Given the description of an element on the screen output the (x, y) to click on. 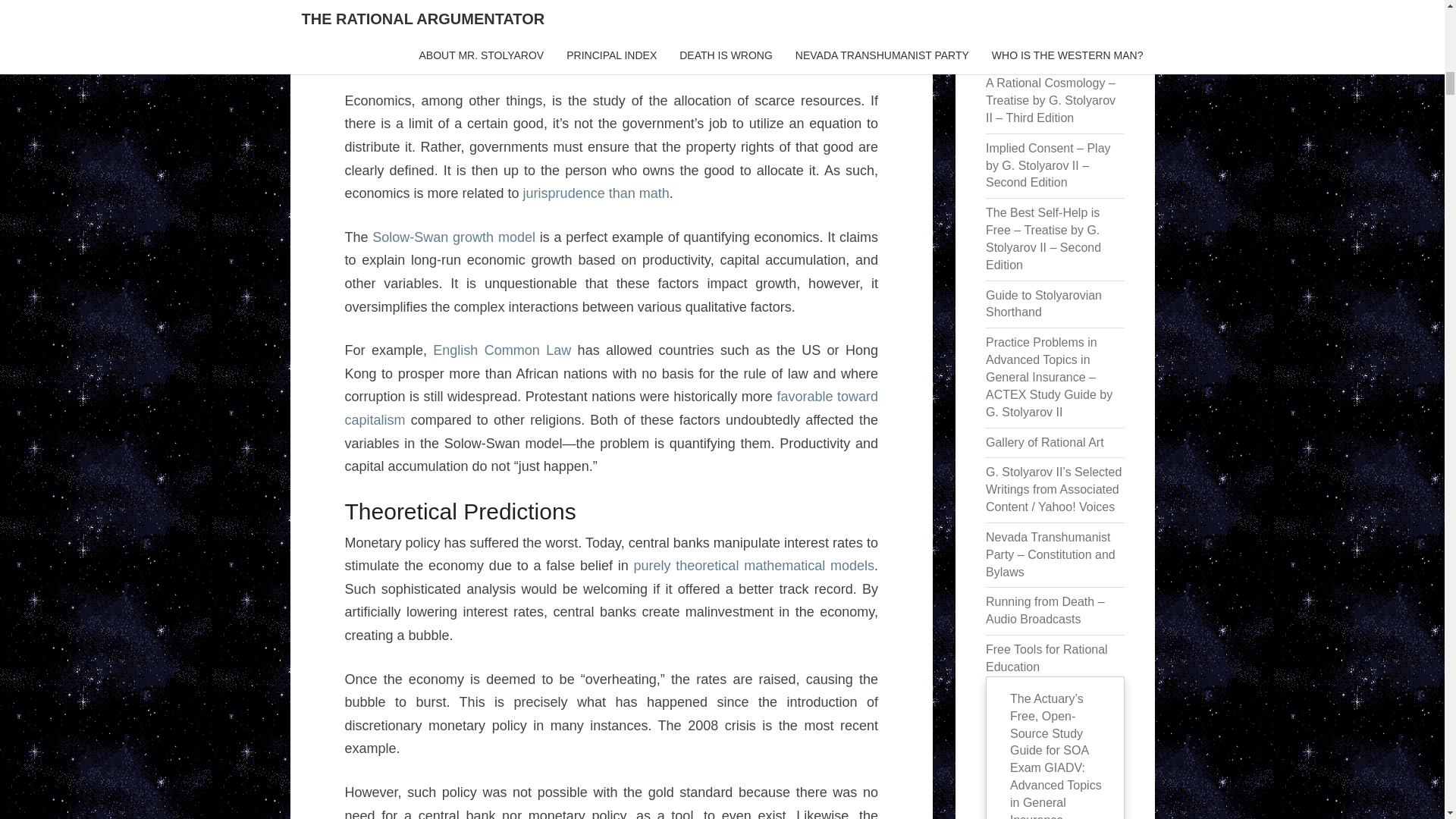
favorable toward capitalism (610, 408)
jurisprudence than math (595, 192)
purely theoretical mathematical models (754, 565)
English Common Law (501, 350)
Solow-Swan growth model (453, 237)
